Given the description of an element on the screen output the (x, y) to click on. 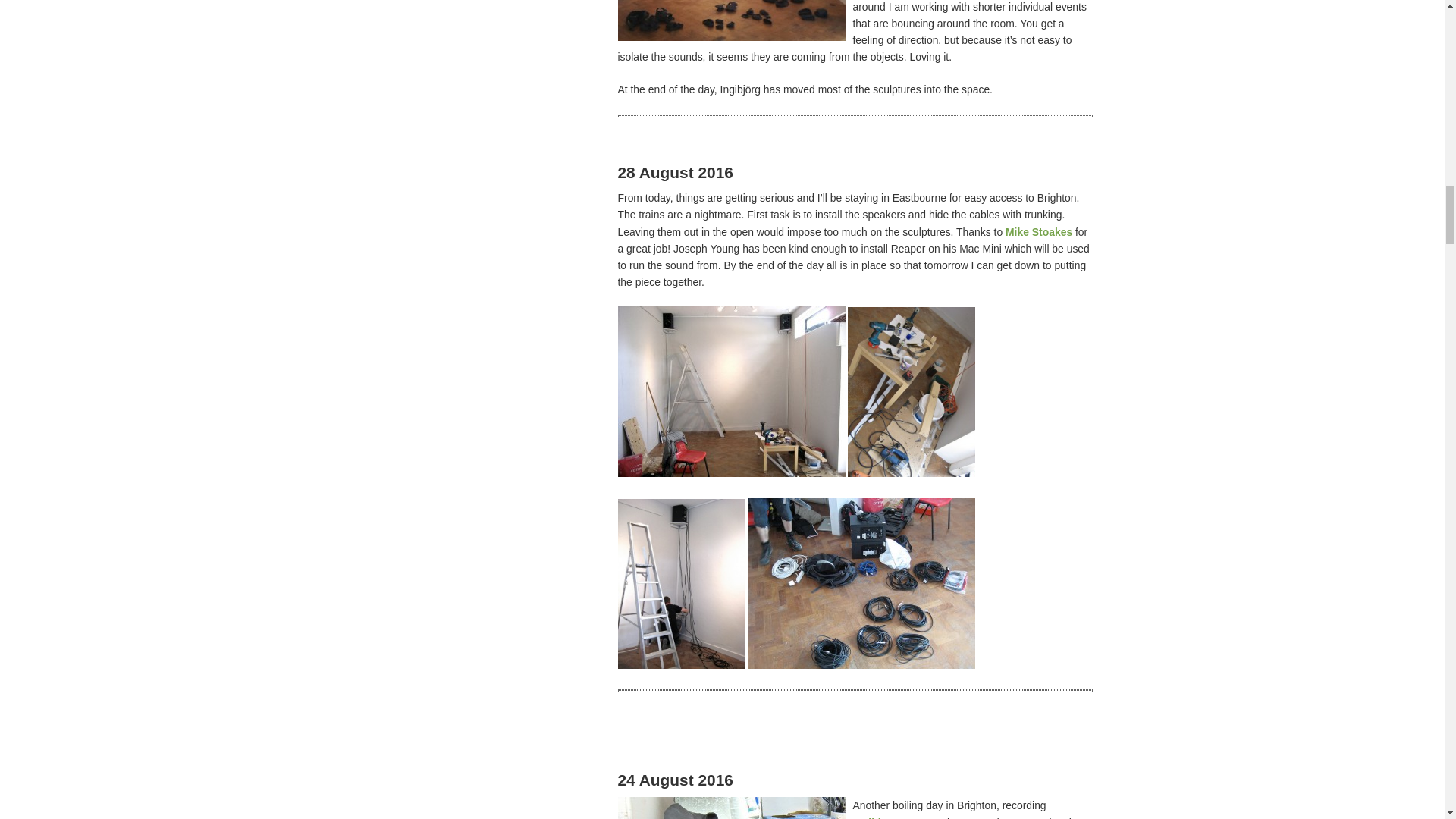
Mike Stoakes (1040, 232)
